Given the description of an element on the screen output the (x, y) to click on. 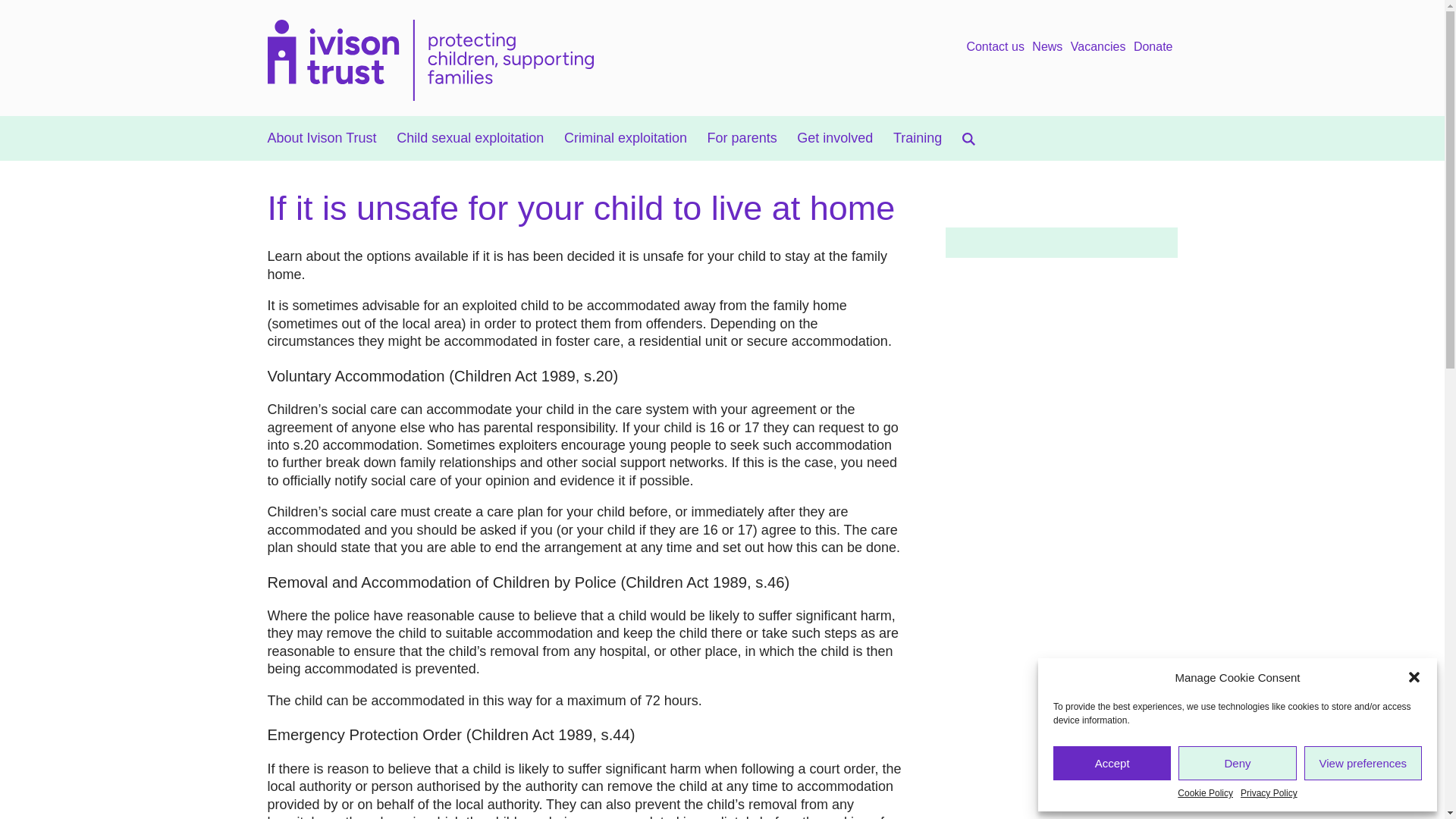
About Ivison Trust (320, 138)
For parents (742, 138)
View preferences (1363, 763)
Training (917, 138)
News (1047, 47)
Get involved (834, 138)
Criminal exploitation (625, 138)
Cookie Policy (1205, 793)
Accept (1111, 763)
Privacy Policy (1268, 793)
Child sexual exploitation (469, 138)
Deny (1236, 763)
Donate (1153, 47)
Vacancies (1097, 47)
Contact us (994, 47)
